Given the description of an element on the screen output the (x, y) to click on. 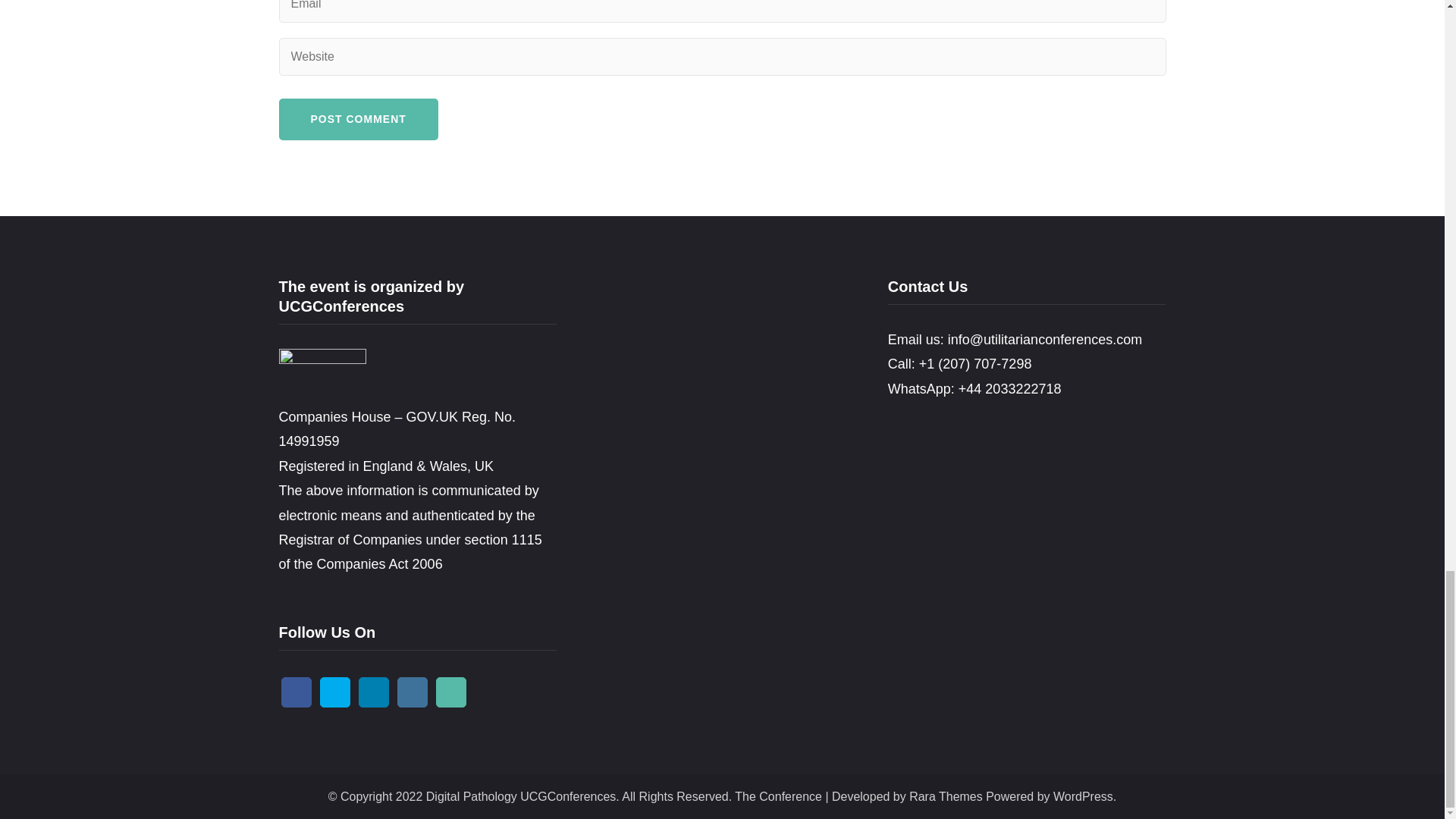
Post Comment (358, 119)
twitter (335, 692)
facebook (296, 692)
pinterest (450, 692)
linkedin (373, 692)
instagram (412, 692)
